Given the description of an element on the screen output the (x, y) to click on. 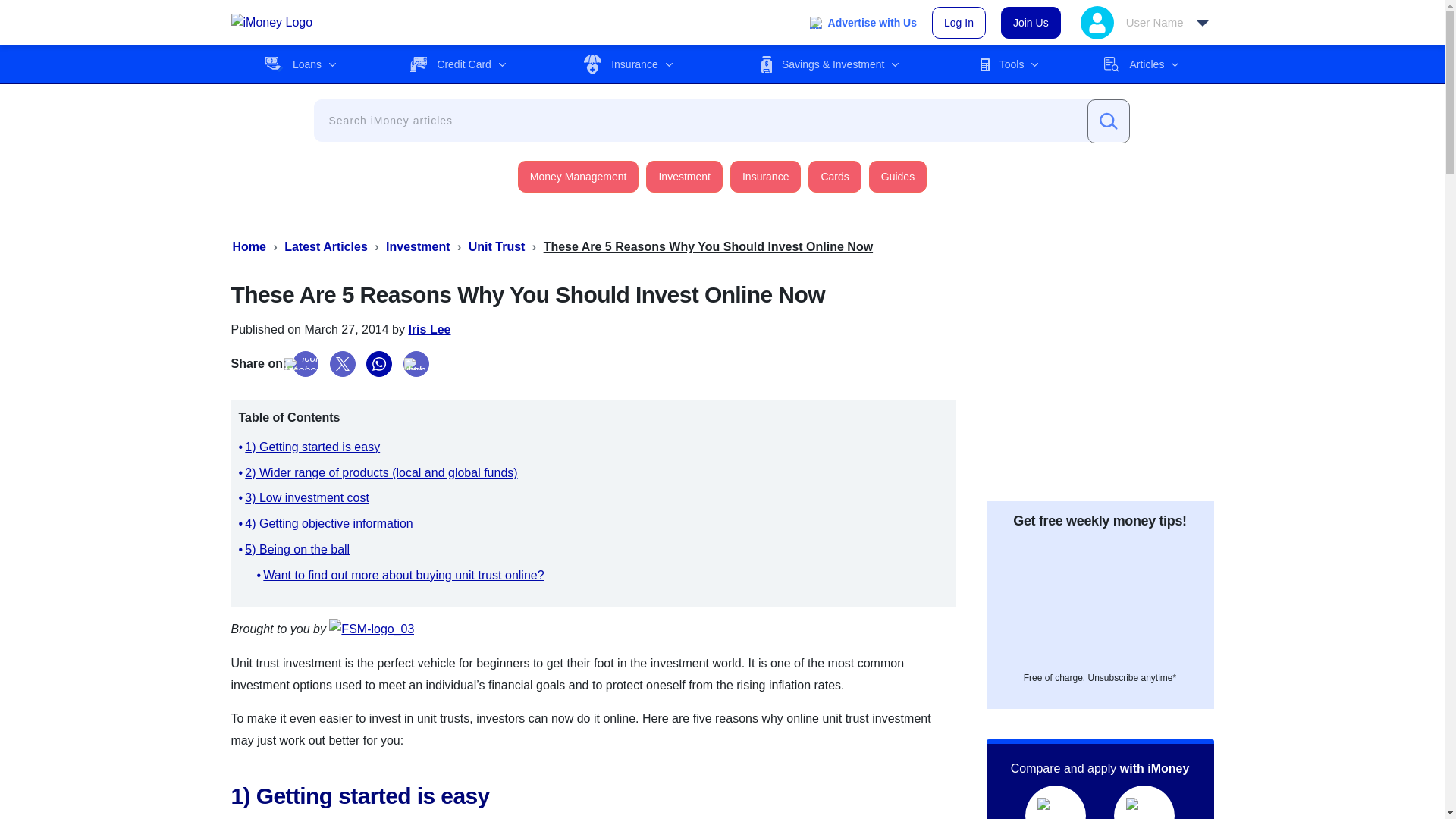
Log In (958, 22)
Credit Card (457, 64)
Posts by Iris Lee (428, 328)
Twitter (342, 363)
Search (1108, 121)
Whatsapp (378, 363)
Facebook (305, 363)
Loans (299, 64)
iMoney (271, 22)
Copy Link (416, 363)
